Given the description of an element on the screen output the (x, y) to click on. 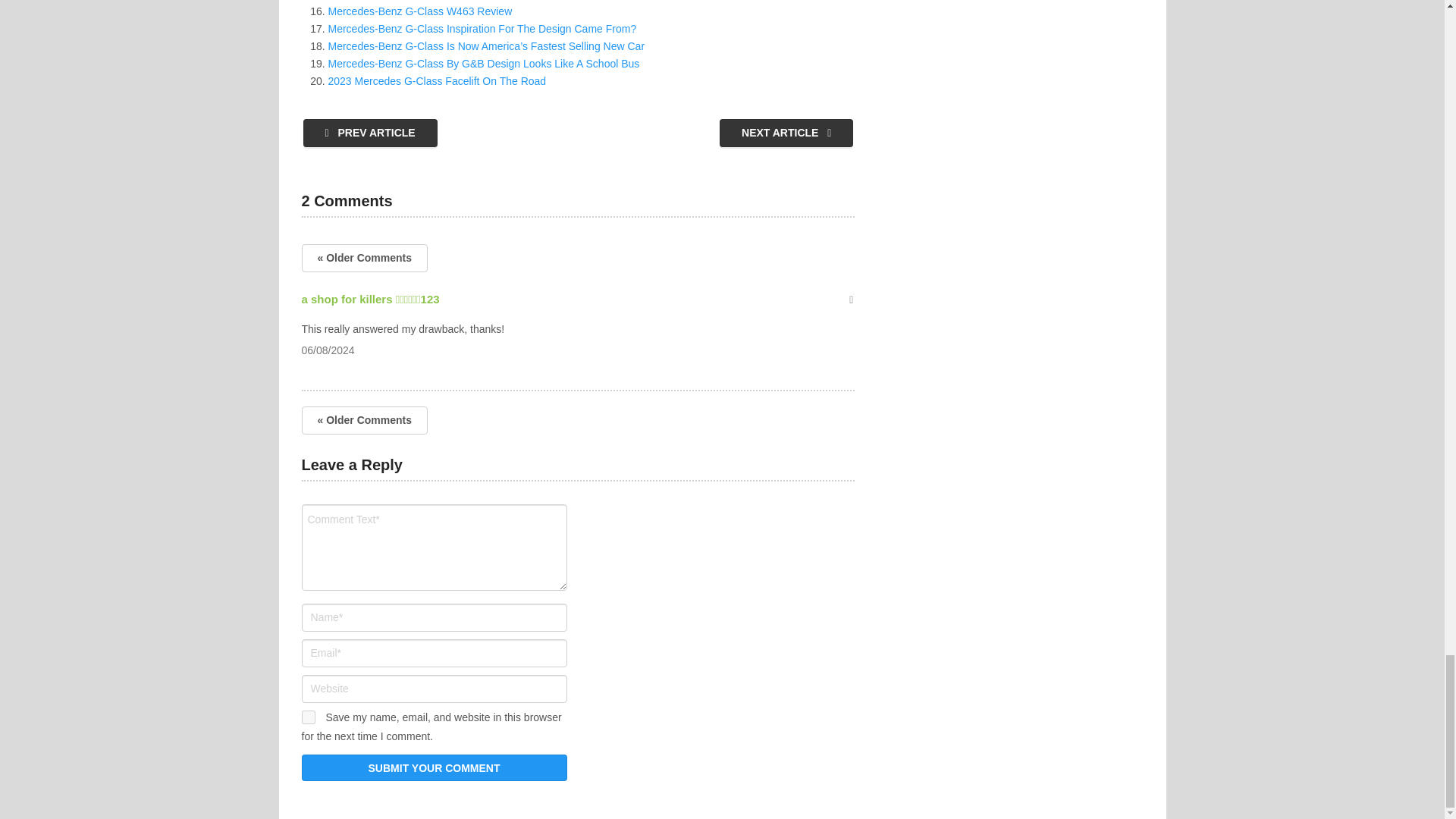
Submit Your Comment (434, 767)
yes (308, 716)
